Given the description of an element on the screen output the (x, y) to click on. 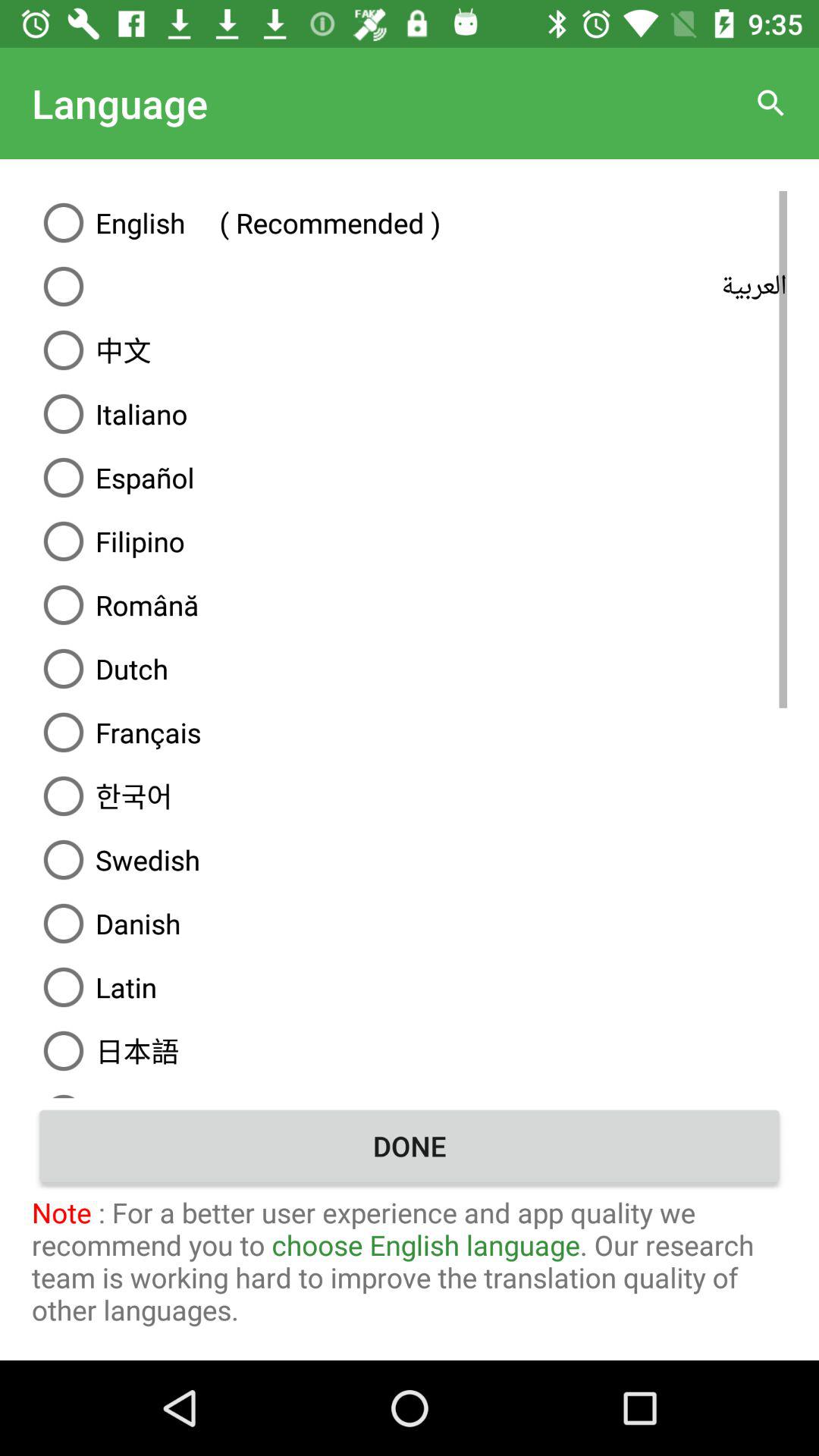
select the app next to language item (771, 103)
